Given the description of an element on the screen output the (x, y) to click on. 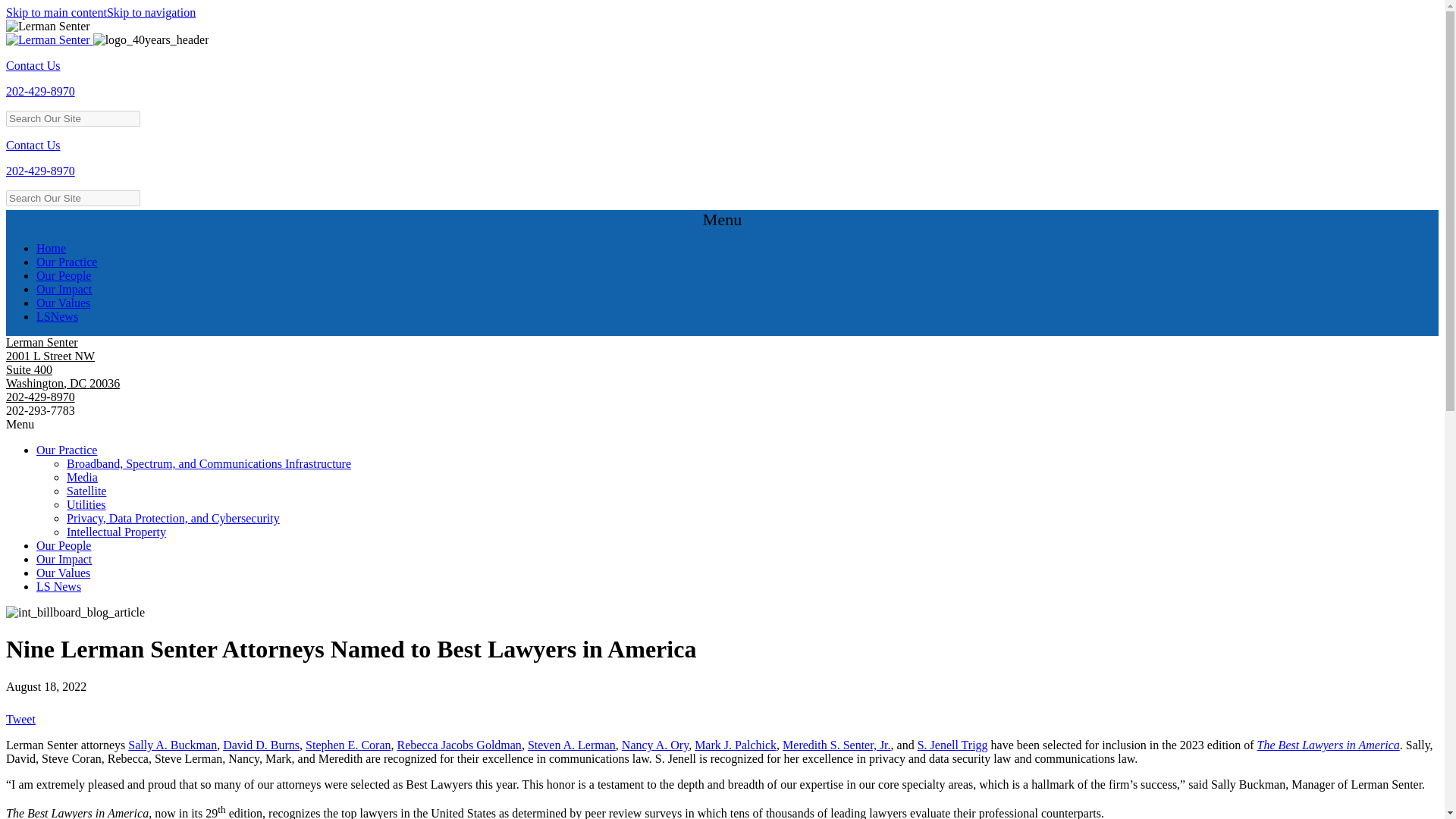
Contact Us (33, 65)
Sally A. Buckman (172, 744)
Our Impact (63, 558)
202-429-8970 (40, 91)
Our People (63, 545)
Utilities (86, 504)
Satellite (86, 490)
Media (81, 477)
Our Practice (66, 261)
David D. Burns (260, 744)
Our People (63, 275)
LS News (58, 585)
Our Values (63, 572)
Contact Us (33, 144)
Intellectual Property (115, 531)
